Given the description of an element on the screen output the (x, y) to click on. 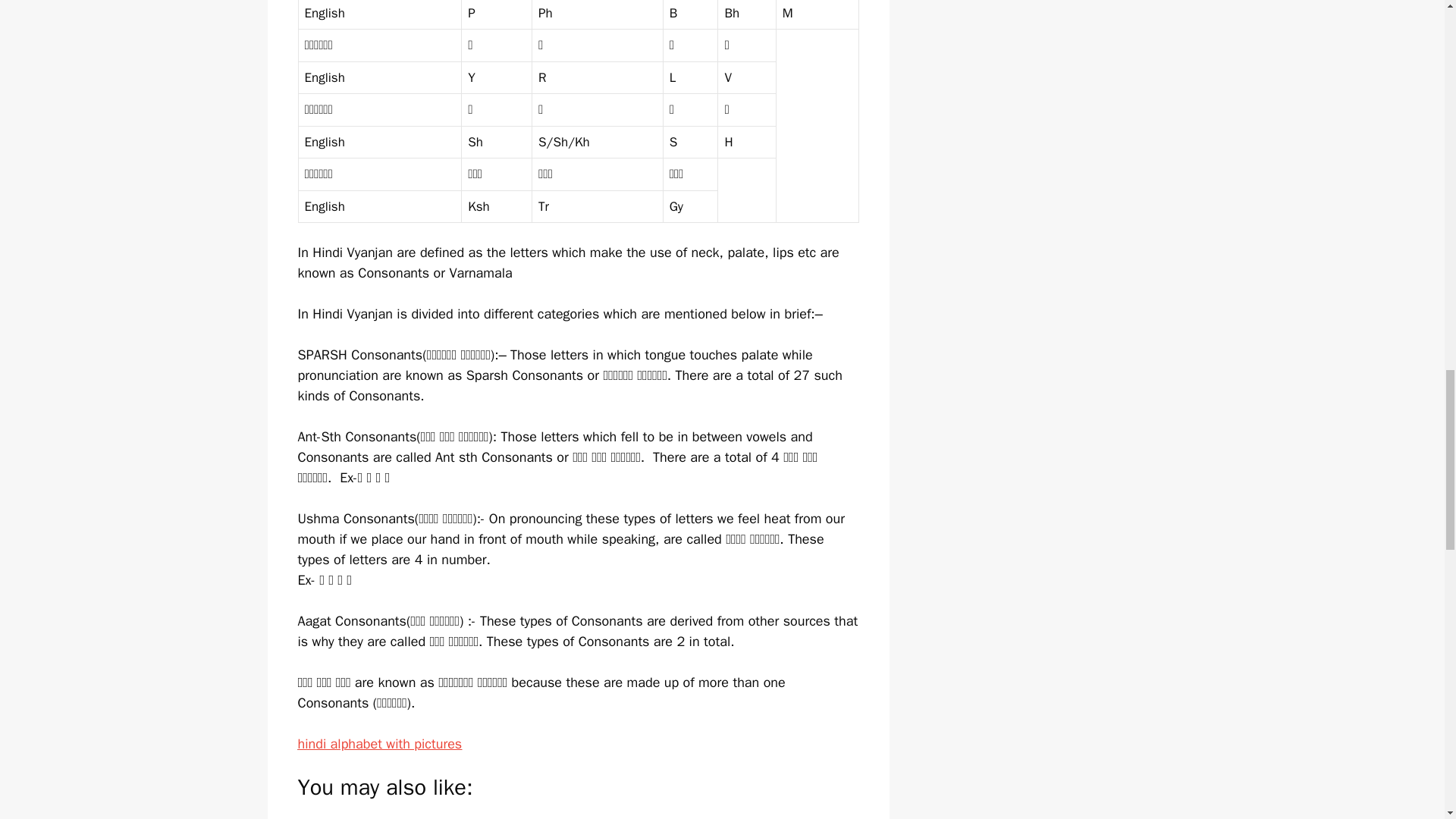
Full barahkhadi in English (408, 818)
hindi alphabet with pictures (379, 743)
